Given the description of an element on the screen output the (x, y) to click on. 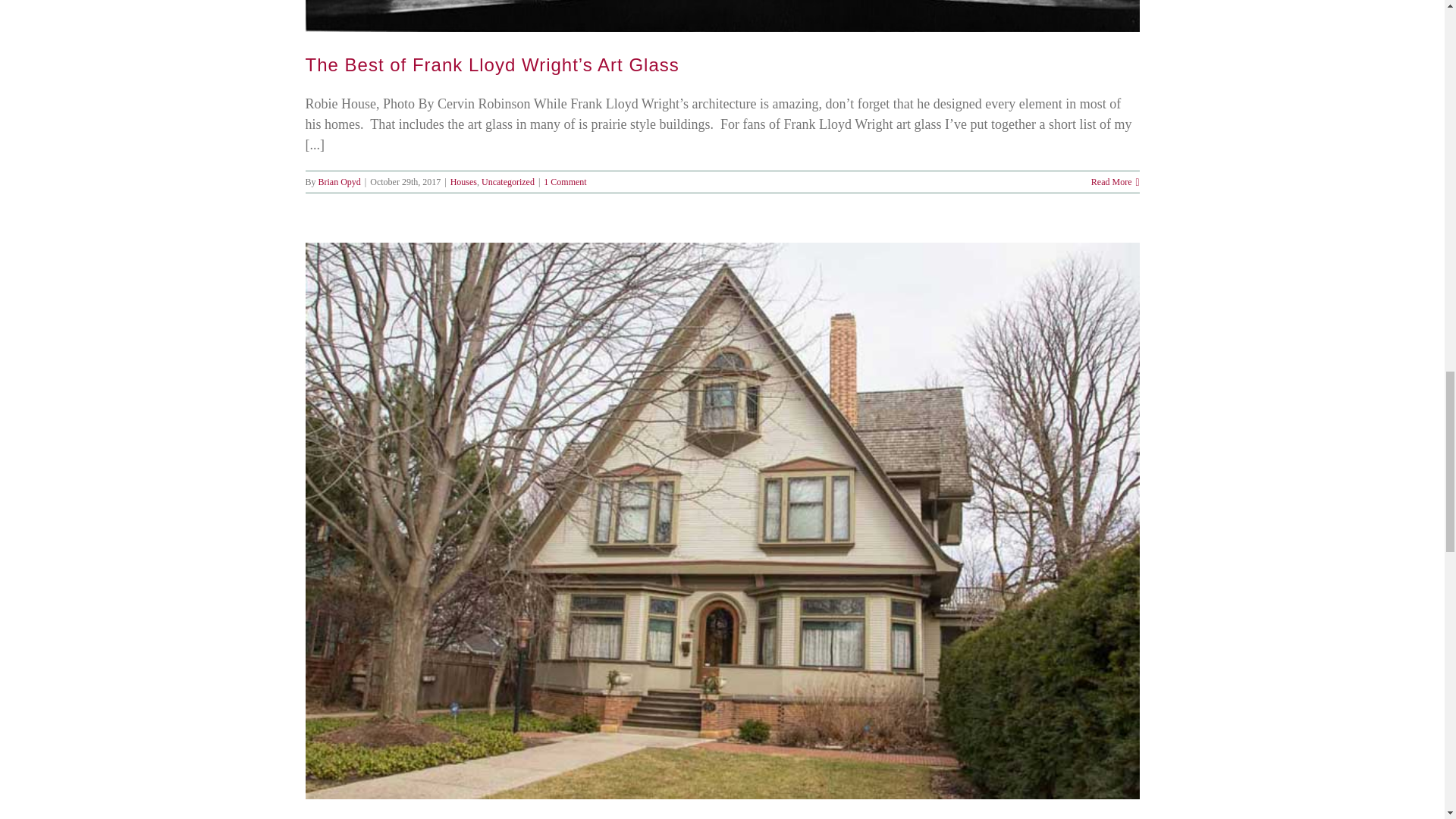
Posts by Brian Opyd (339, 181)
Uncategorized (507, 181)
Read More (1111, 182)
Houses (463, 181)
Brian Opyd (339, 181)
1 Comment (564, 181)
